Given the description of an element on the screen output the (x, y) to click on. 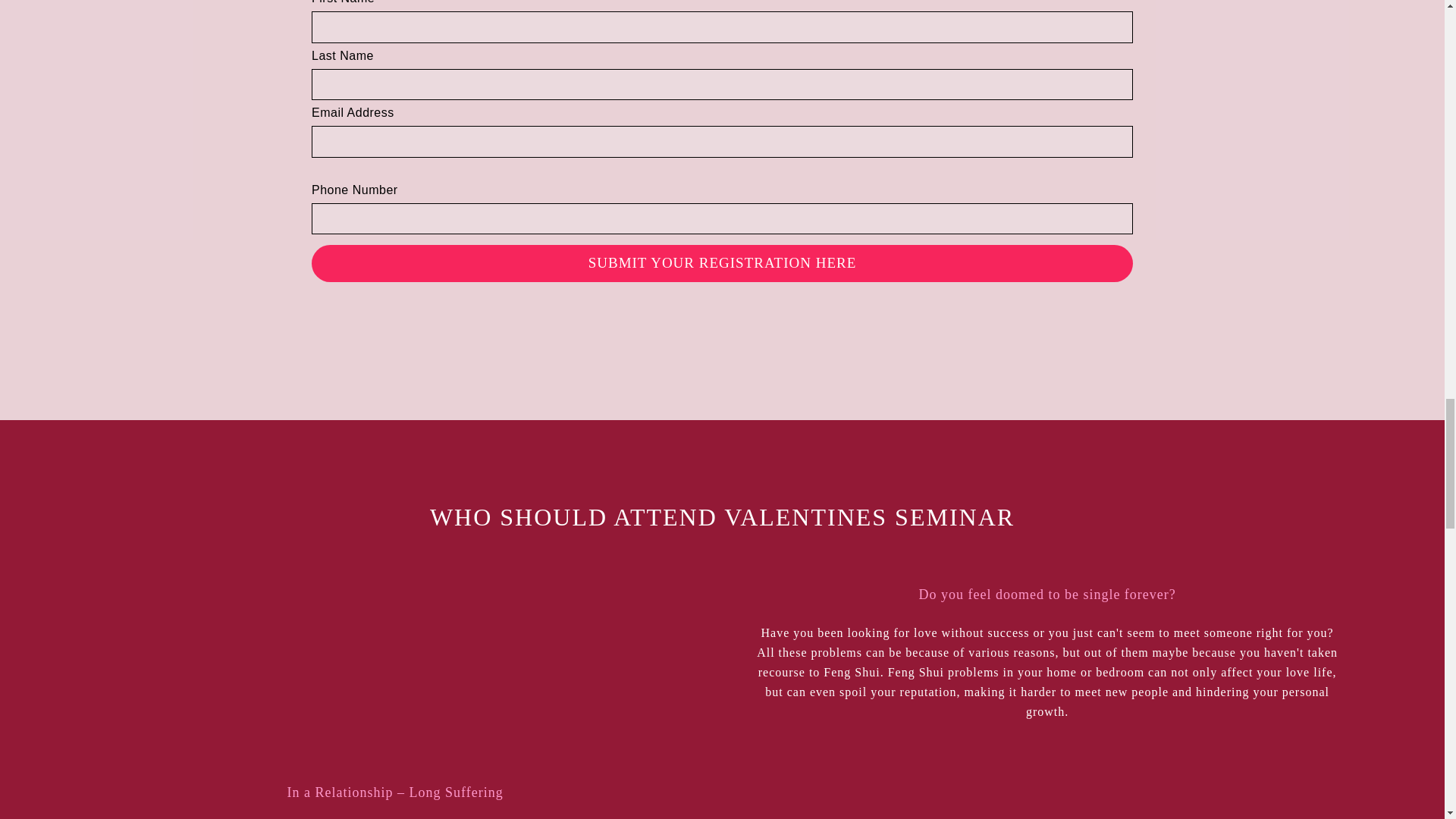
SUBMIT YOUR REGISTRATION HERE (721, 262)
